Given the description of an element on the screen output the (x, y) to click on. 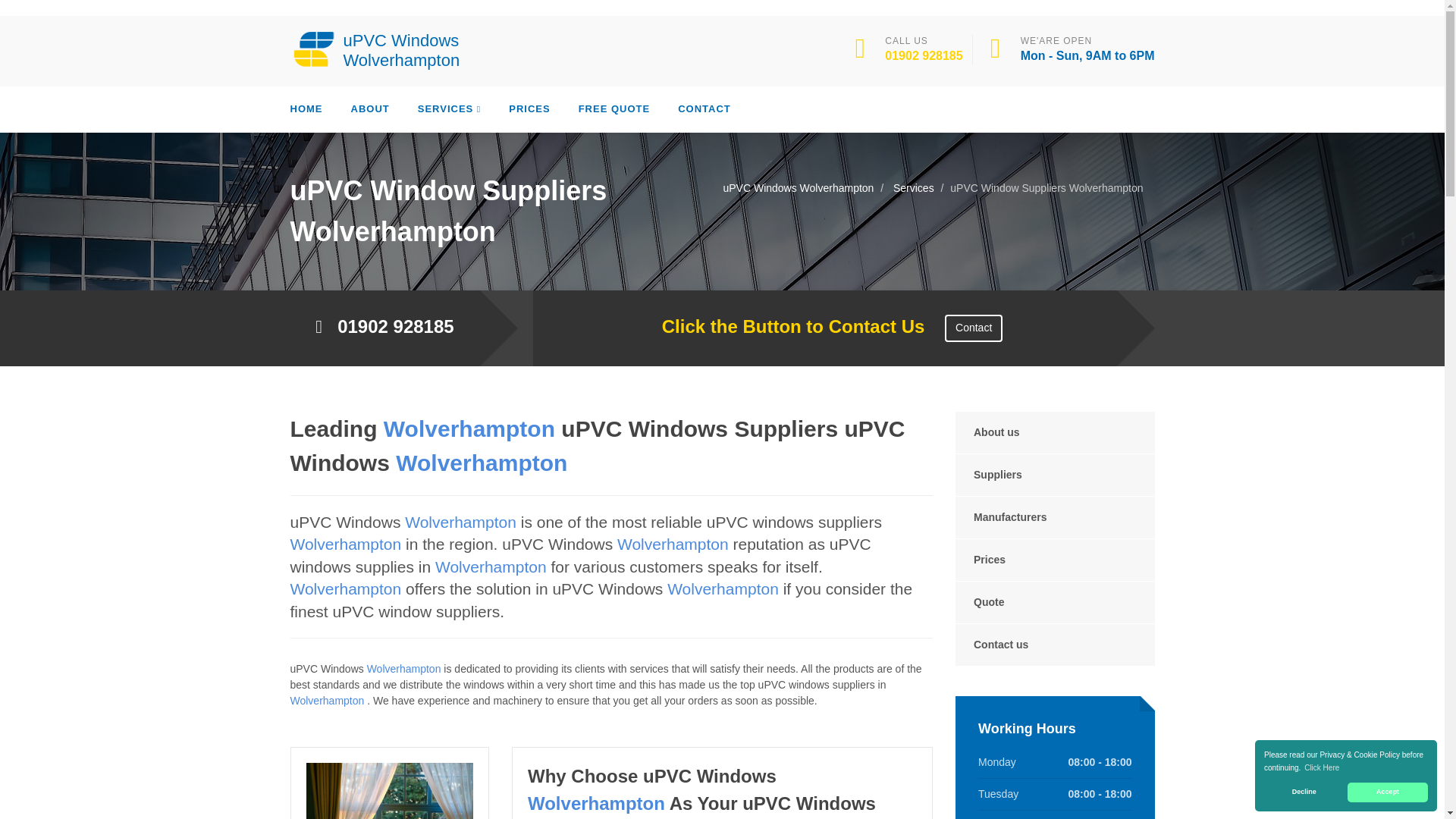
Accept (1388, 792)
Decline (1303, 792)
uPVC Windows Wolverhampton (380, 49)
uPVC Windows Wolverhampton (380, 49)
Click Here (1321, 767)
01902 928185 (923, 55)
SERVICES (449, 108)
